Given the description of an element on the screen output the (x, y) to click on. 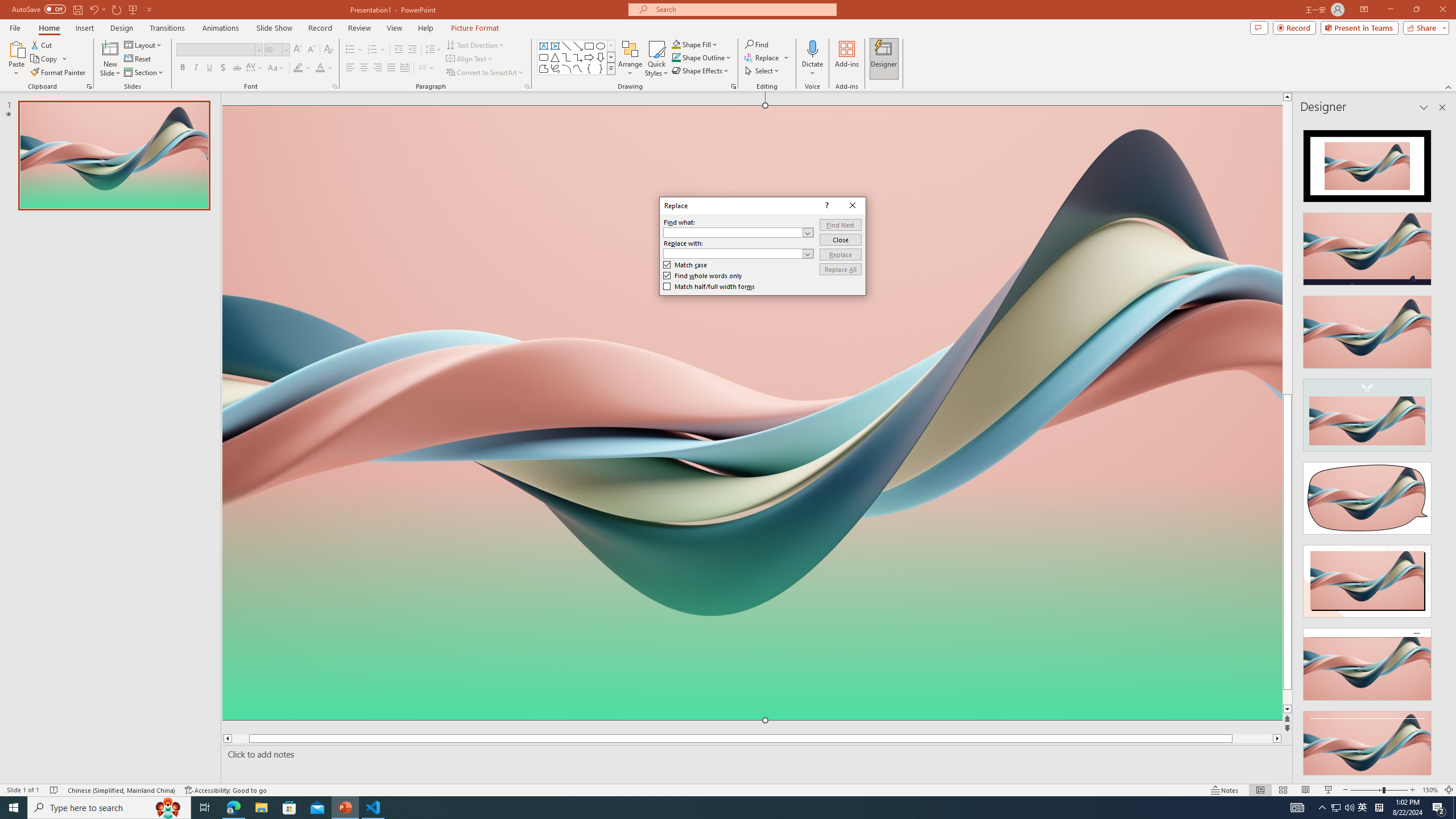
Recommended Design: Design Idea (1366, 162)
Match case (684, 264)
